Given the description of an element on the screen output the (x, y) to click on. 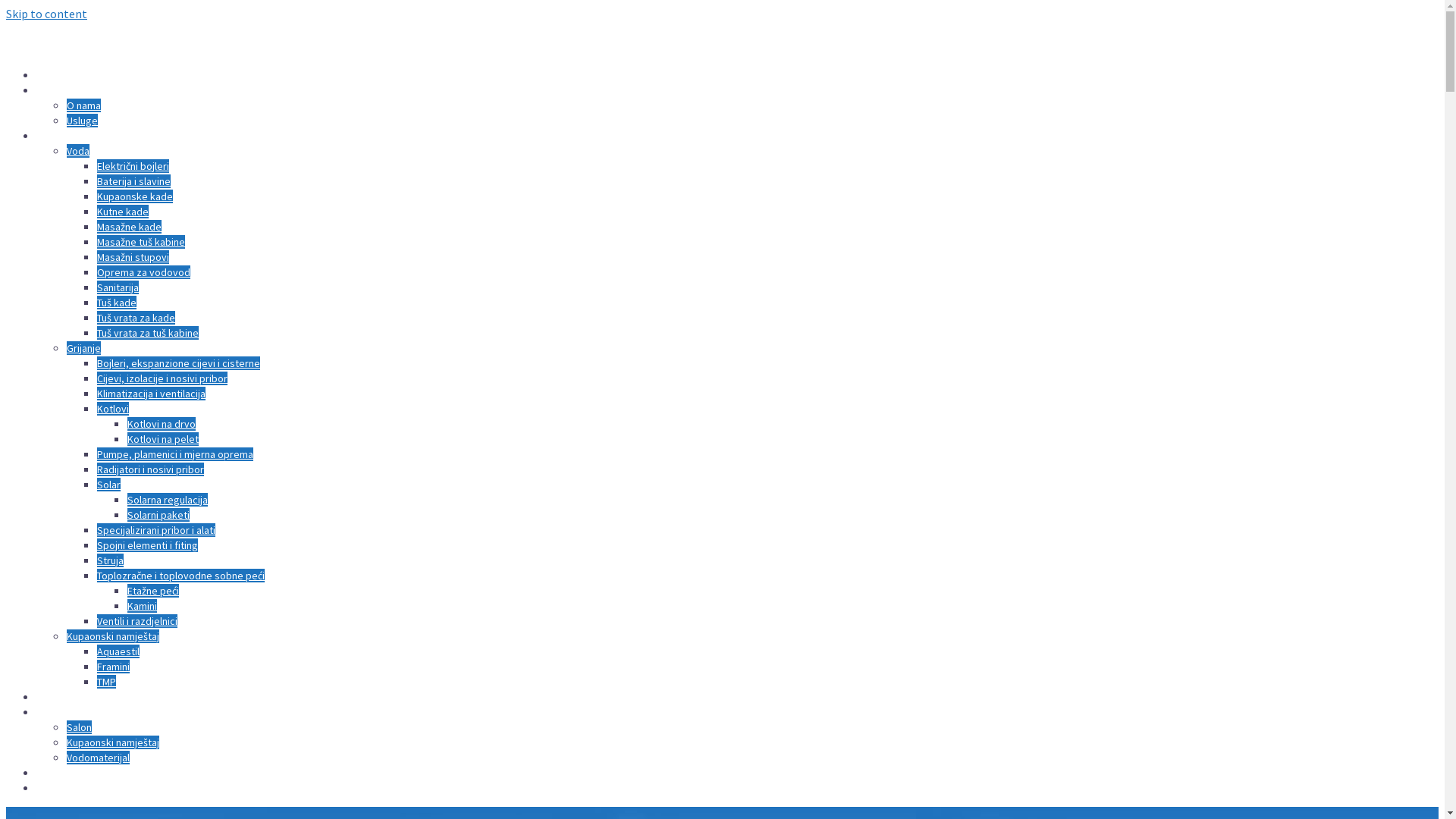
Sanitarija Element type: text (117, 287)
Klimatizacija i ventilacija Element type: text (151, 393)
Laser-Bi Element type: hover (97, 46)
Kontakt Element type: text (54, 787)
Ventili i razdjelnici Element type: text (137, 620)
Naslovnica Element type: text (60, 74)
Kompanija Element type: text (59, 90)
Akcije / Novosti Element type: text (71, 696)
Kotlovi na pelet Element type: text (162, 438)
Kupaonske kade Element type: text (134, 196)
Oprema za vodovod Element type: text (143, 272)
Galerija Element type: text (53, 711)
Aquaestil Element type: text (118, 651)
Usluge Element type: text (81, 120)
Solarni paketi Element type: text (158, 514)
Pumpe, plamenici i mjerna oprema Element type: text (175, 454)
Vodomaterijal Element type: text (97, 757)
Voda Element type: text (77, 150)
TMP Element type: text (106, 681)
Proizvodi Element type: text (57, 135)
Kotlovi na drvo Element type: text (161, 423)
Baterija i slavine Element type: text (133, 181)
Spojni elementi i fiting Element type: text (147, 545)
Specijalizirani pribor i alati Element type: text (156, 529)
Struja Element type: text (110, 560)
Kutne kade Element type: text (122, 211)
Radijatori i nosivi pribor Element type: text (150, 469)
Framini Element type: text (113, 666)
Bojleri, ekspanzione cijevi i cisterne Element type: text (178, 363)
Solar Element type: text (108, 484)
Cijevi, izolacije i nosivi pribor Element type: text (162, 378)
Salon Element type: text (78, 727)
Grijanje Element type: text (83, 347)
Kotlovi Element type: text (112, 408)
Kamini Element type: text (141, 605)
Solarna regulacija Element type: text (167, 499)
Partneri Element type: text (54, 772)
Skip to content Element type: text (46, 13)
O nama Element type: text (83, 105)
